Given the description of an element on the screen output the (x, y) to click on. 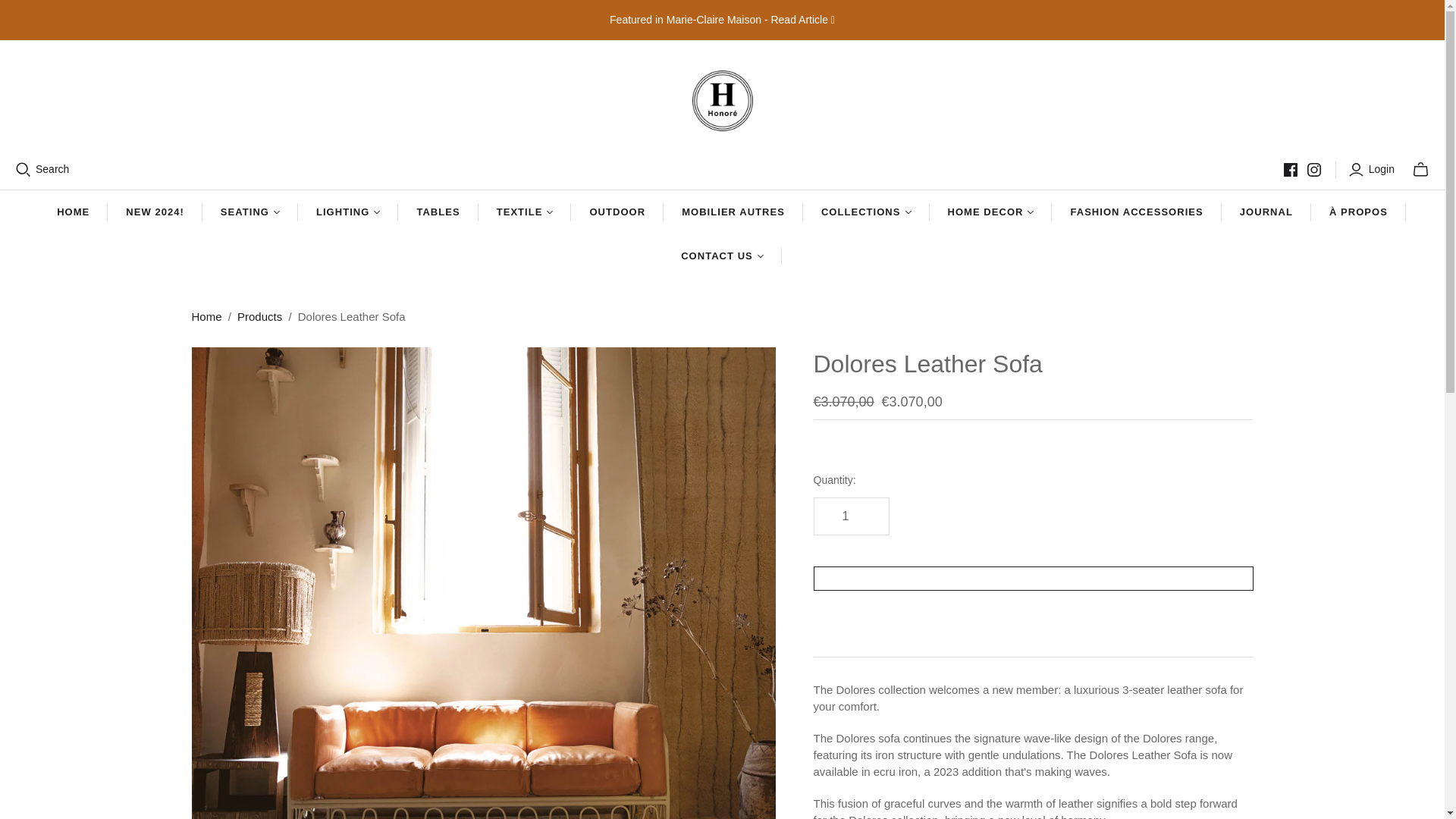
MOBILIER AUTRES (733, 212)
Login (1373, 169)
Toggle mini cart (1419, 169)
HOME (73, 212)
NEW 2024! (154, 212)
1 (850, 516)
OUTDOOR (616, 212)
TABLES (437, 212)
